Given the description of an element on the screen output the (x, y) to click on. 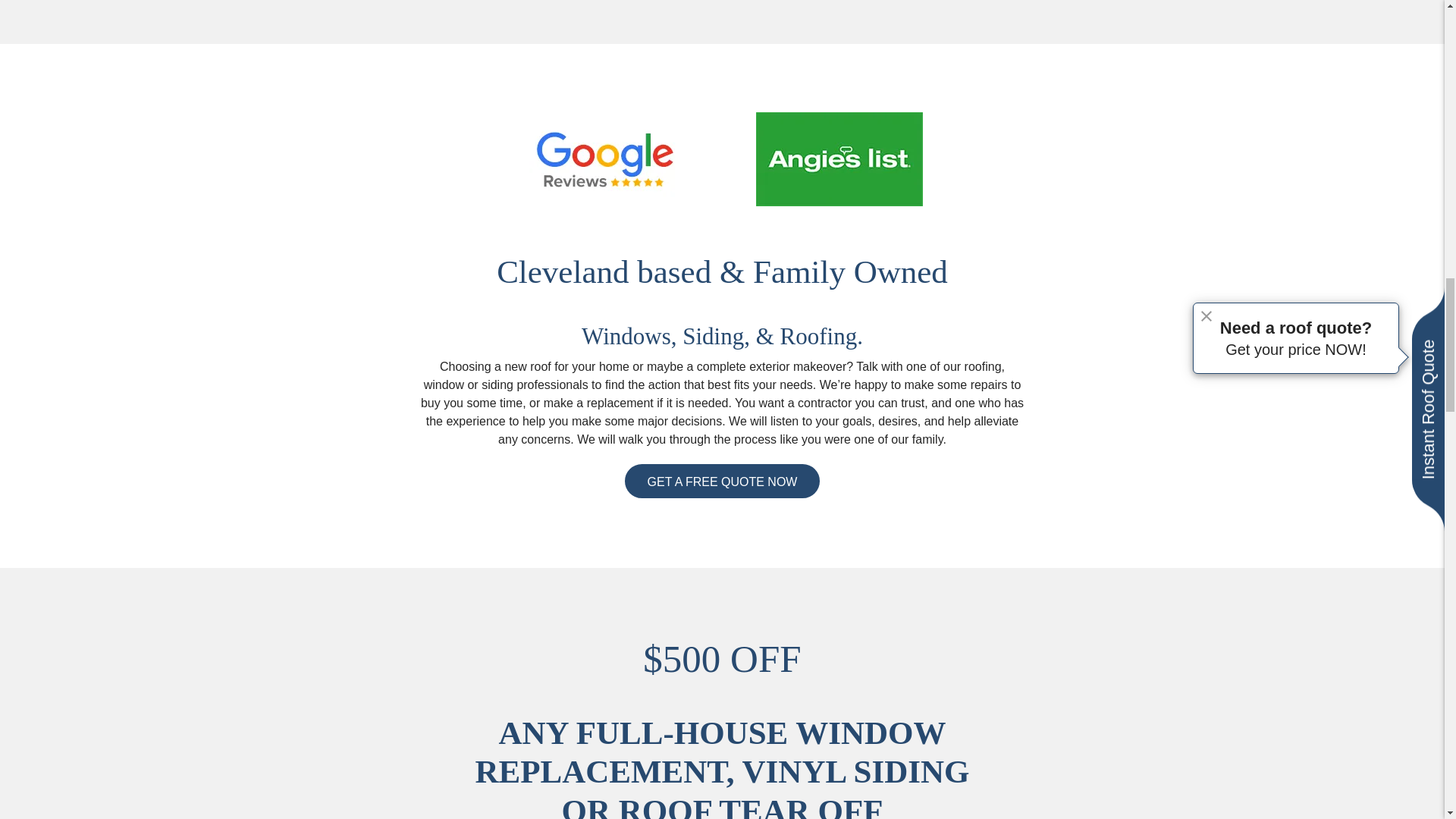
angieslist (839, 159)
blog-google-review (605, 159)
